Given the description of an element on the screen output the (x, y) to click on. 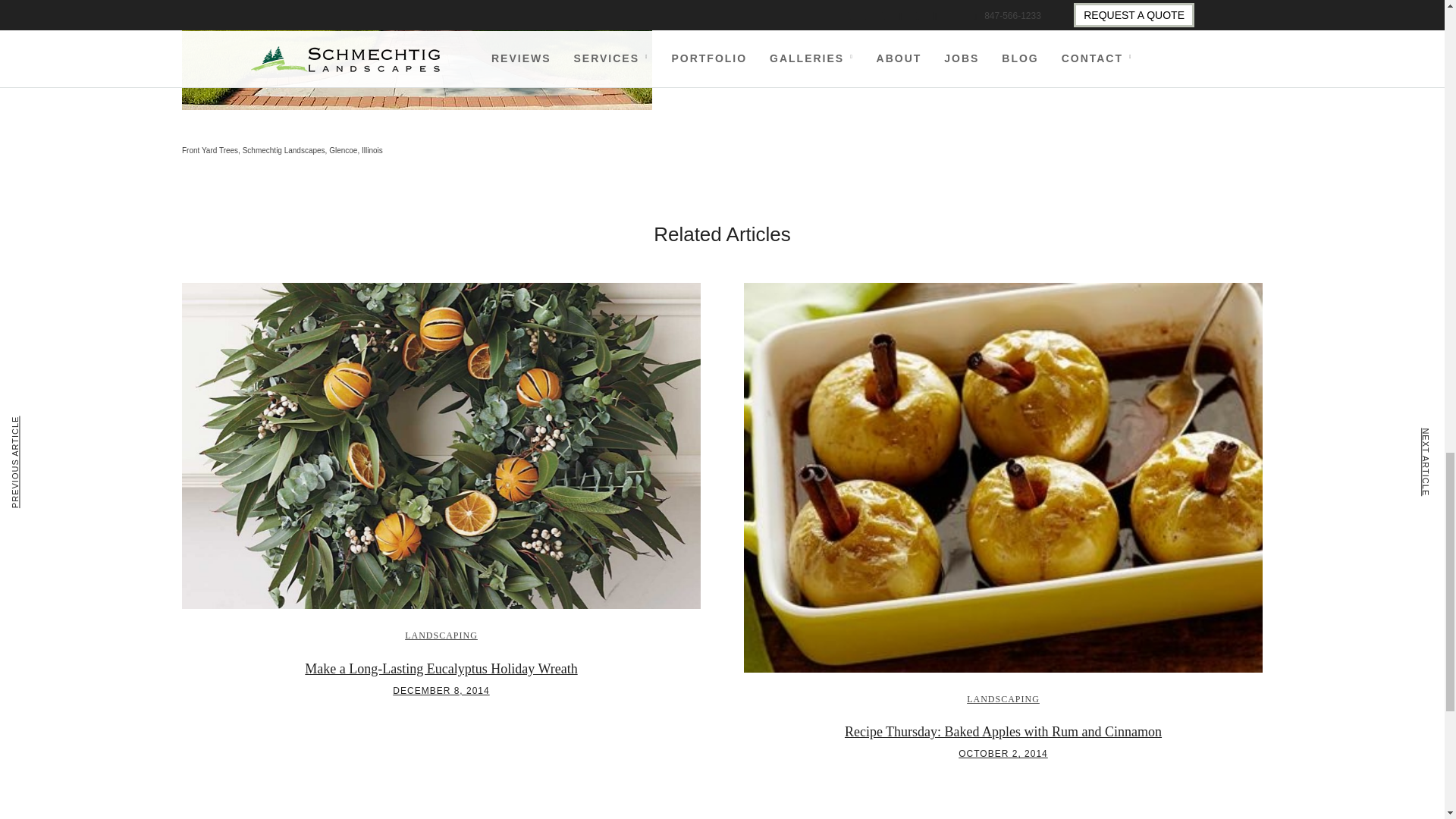
Recipe Thursday: Baked Apples with Rum and Cinnamon (1002, 731)
Make a Long-Lasting Eucalyptus Holiday Wreath (441, 690)
Make a Long-Lasting Eucalyptus Holiday Wreath (440, 668)
